Given the description of an element on the screen output the (x, y) to click on. 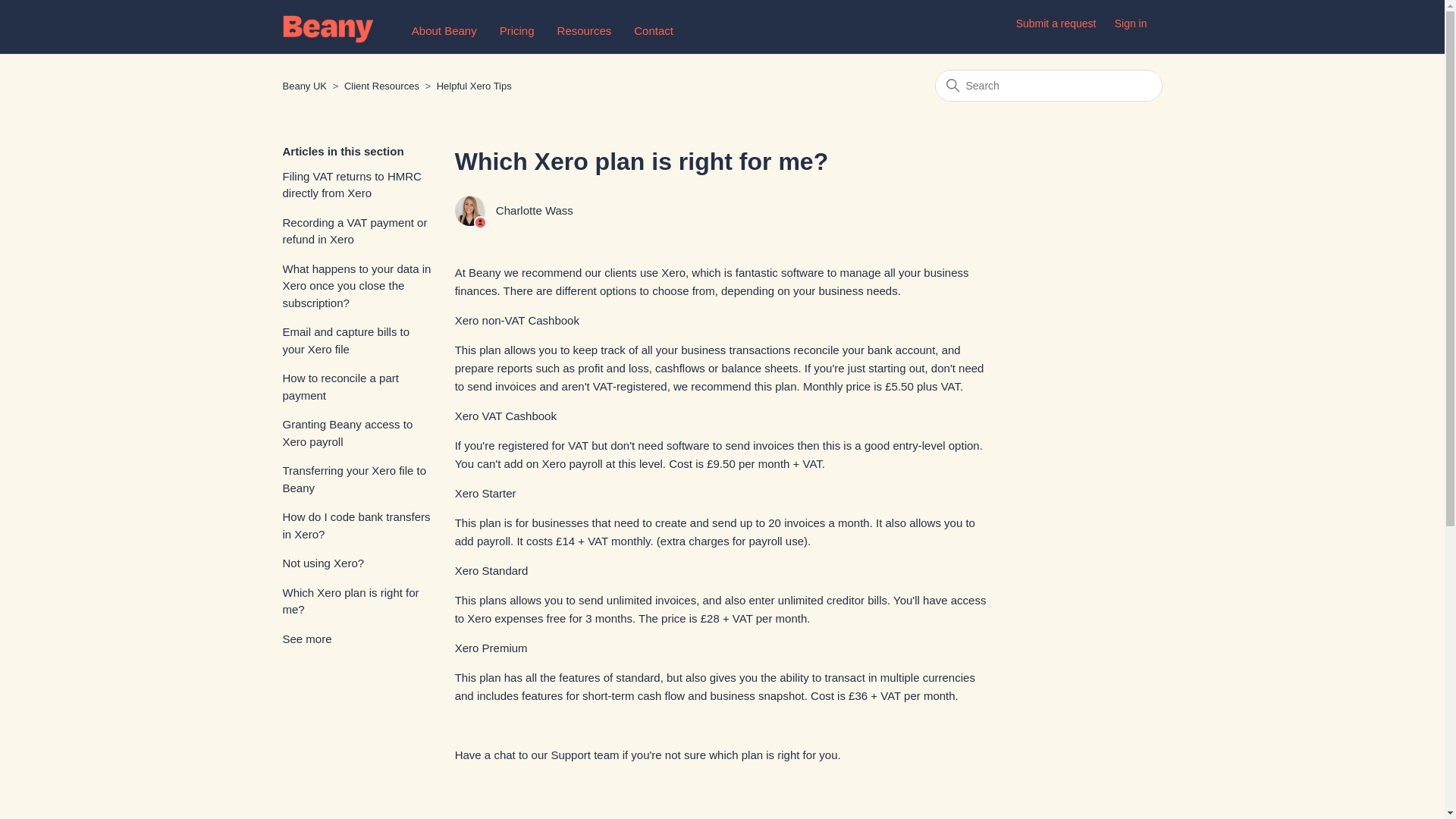
Contact (652, 30)
Granting Beany access to Xero payroll (356, 433)
Resources (584, 30)
About Beany (444, 30)
See more (306, 638)
Submit a request (1064, 23)
Helpful Xero Tips (467, 85)
How do I code bank transfers in Xero? (356, 525)
Filing VAT returns to HMRC directly from Xero (356, 185)
Pricing (516, 30)
